Given the description of an element on the screen output the (x, y) to click on. 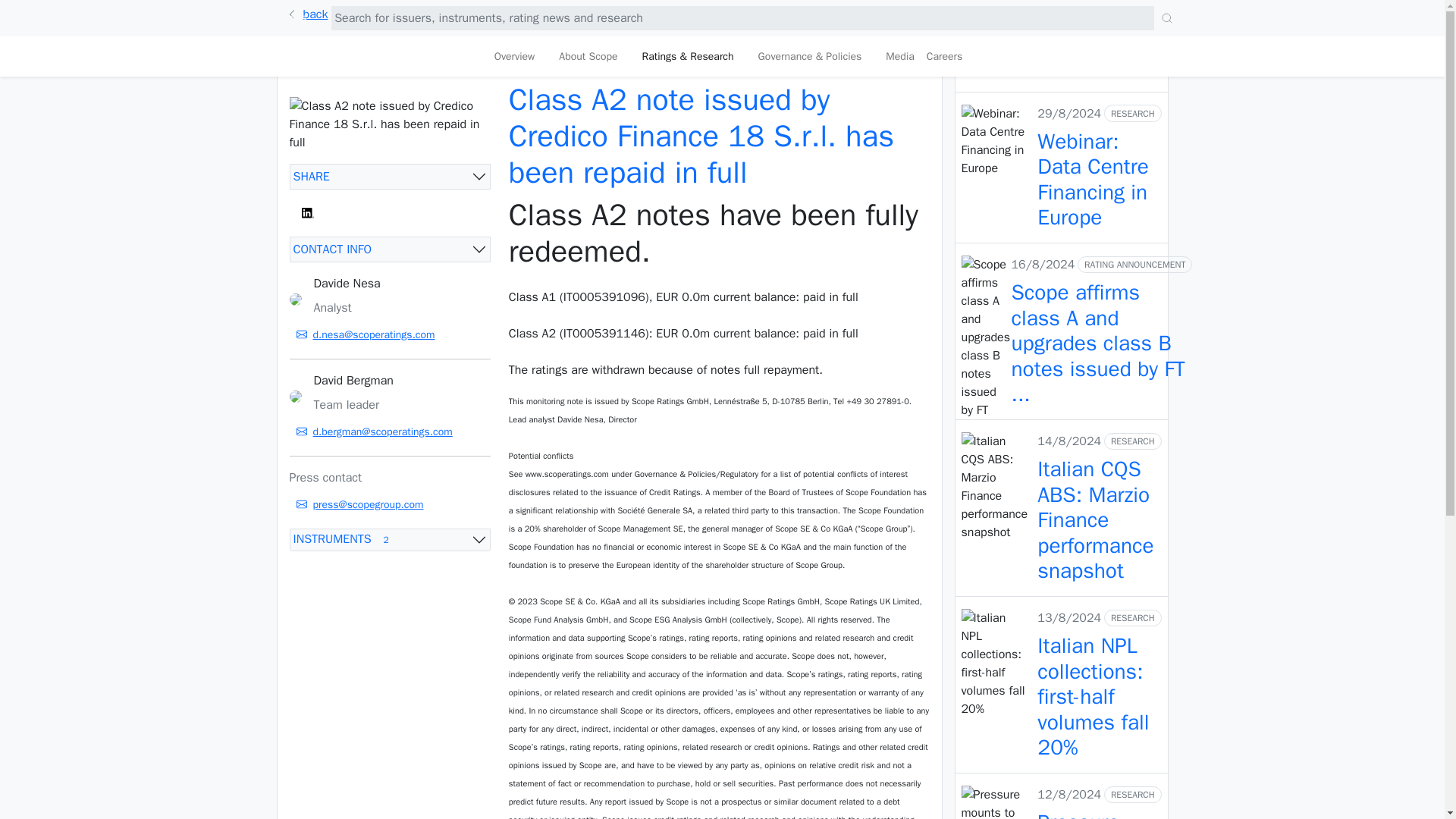
About Scope (389, 539)
Media (587, 56)
Send Email to Press contact (899, 56)
Download PDF (389, 504)
Send Email to Team Leader (882, 65)
Send email to Analyst (389, 431)
Media Scope Group (389, 334)
Scope Ratings (899, 56)
